Given the description of an element on the screen output the (x, y) to click on. 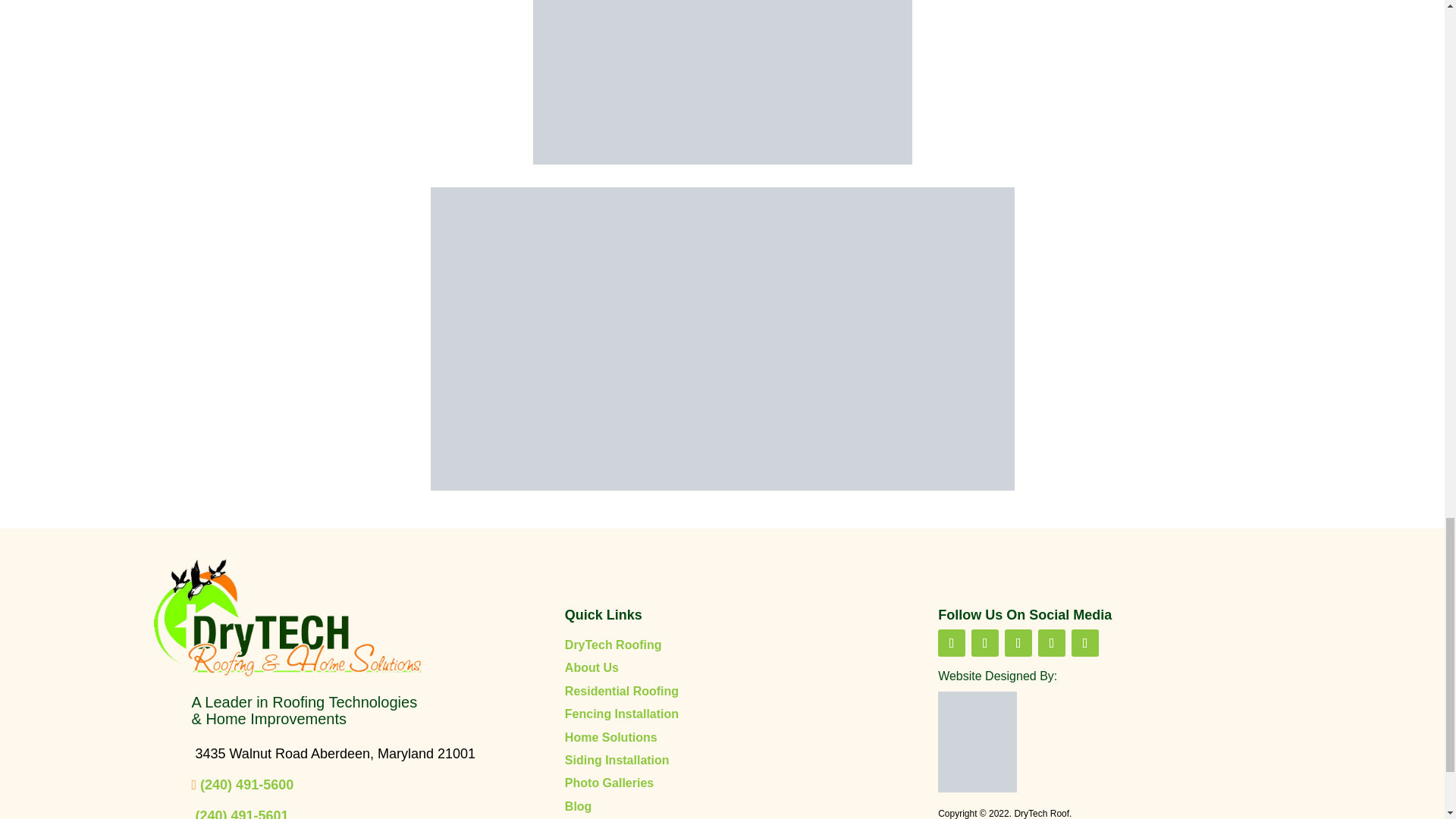
Follow on Youtube (984, 642)
Follow on google-plus (1051, 642)
Follow on Instagram (1085, 642)
DryTechLogo-Short (287, 618)
Follow on Facebook (951, 642)
Follow on X (1018, 642)
